Given the description of an element on the screen output the (x, y) to click on. 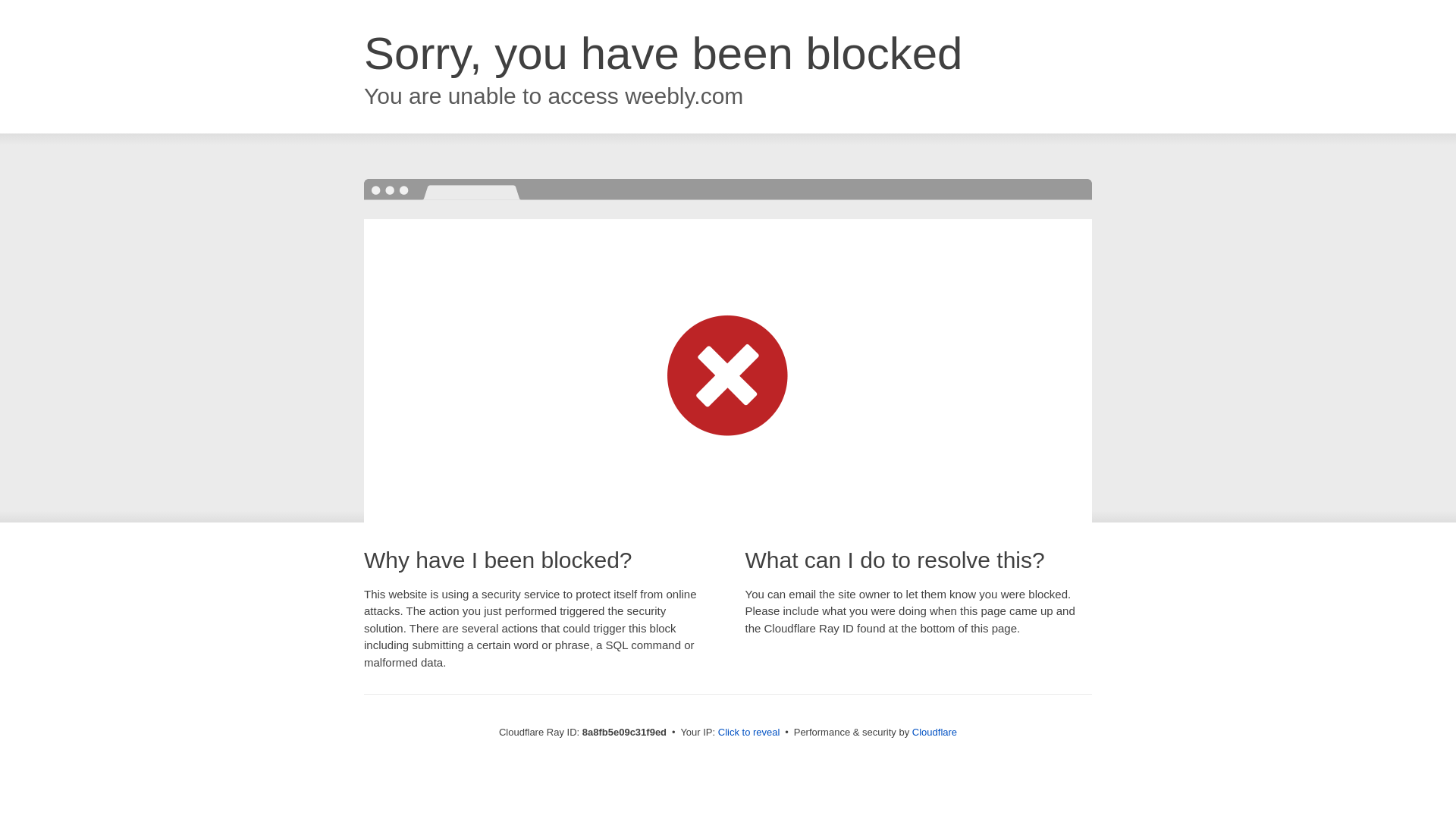
Click to reveal (748, 732)
Cloudflare (934, 731)
